Given the description of an element on the screen output the (x, y) to click on. 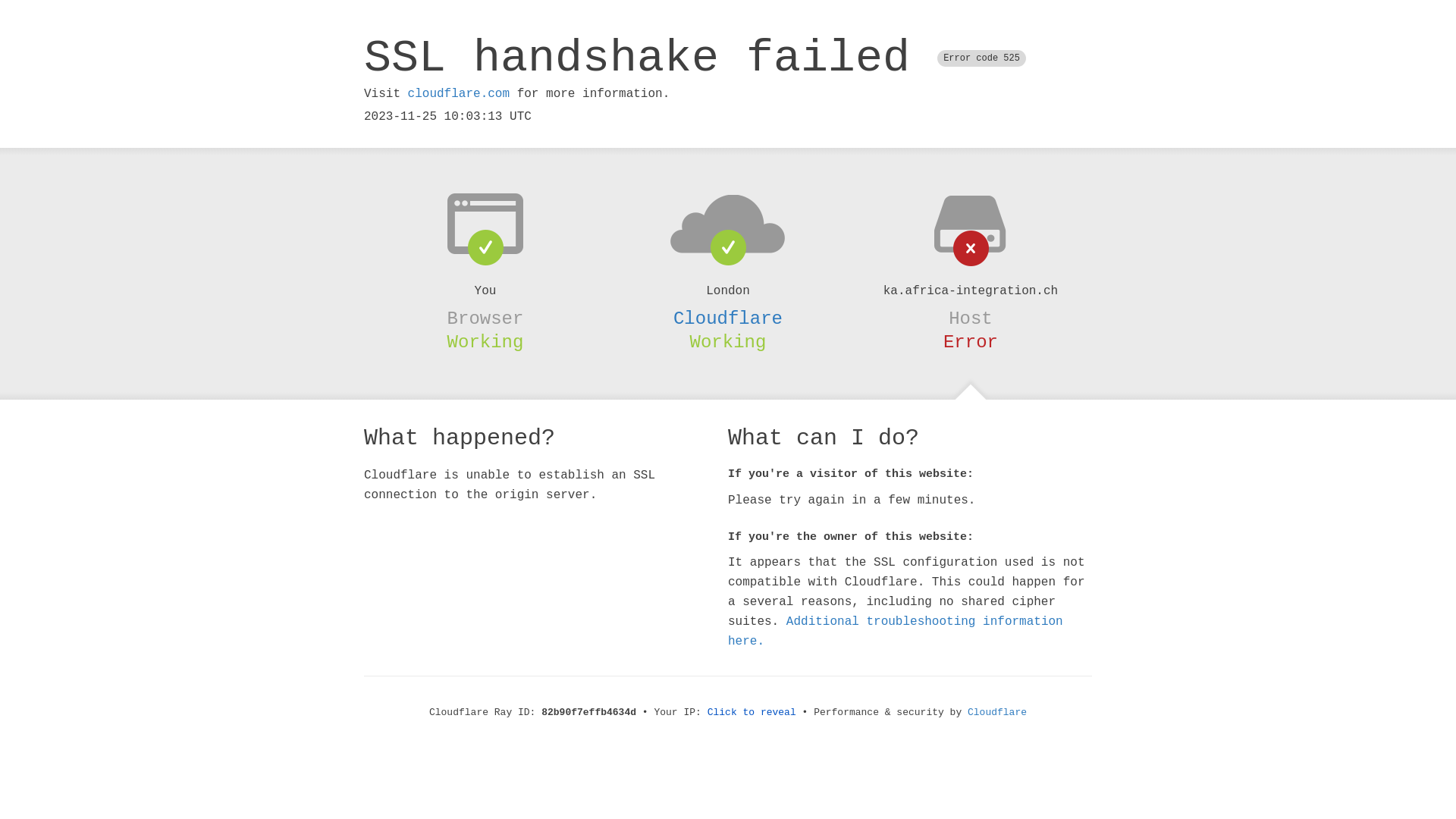
Cloudflare Element type: text (727, 318)
Additional troubleshooting information here. Element type: text (895, 631)
cloudflare.com Element type: text (458, 93)
Cloudflare Element type: text (996, 712)
Click to reveal Element type: text (751, 712)
